Given the description of an element on the screen output the (x, y) to click on. 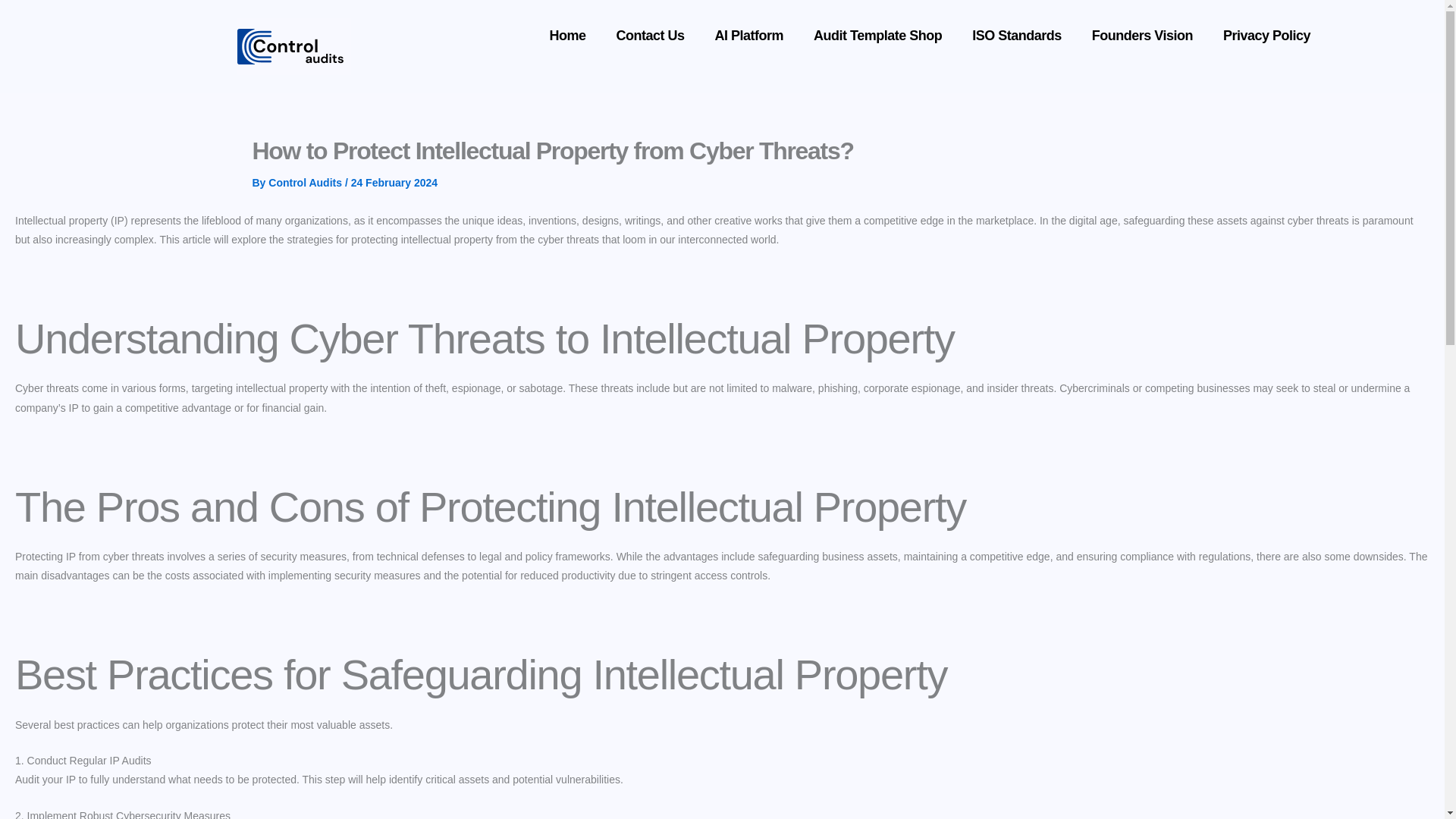
Control Audits (306, 182)
Founders Vision (1142, 35)
AI Platform (749, 35)
Audit Template Shop (876, 35)
View all posts by Control Audits (306, 182)
ISO Standards (1016, 35)
Home (566, 35)
Privacy Policy (1266, 35)
Contact Us (650, 35)
